Given the description of an element on the screen output the (x, y) to click on. 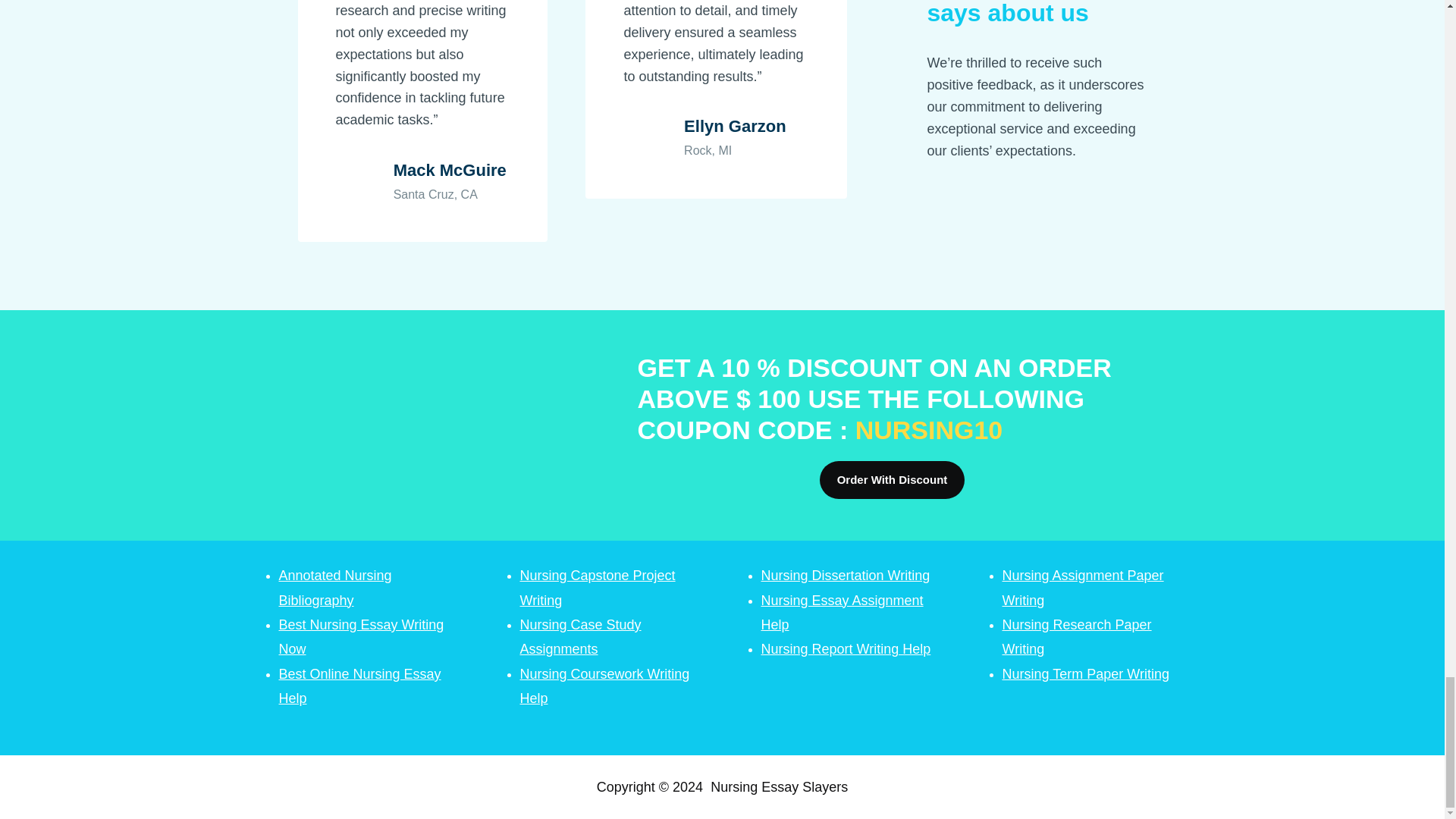
Nursing Case Study Assignments (580, 636)
Annotated Nursing Bibliography (335, 587)
Nursing Coursework Writing Help (604, 685)
Best Nursing Essay Writing Now (361, 636)
Order With Discount (892, 479)
Nursing Capstone Project Writing (597, 587)
Best Online Nursing Essay Help (360, 685)
